Given the description of an element on the screen output the (x, y) to click on. 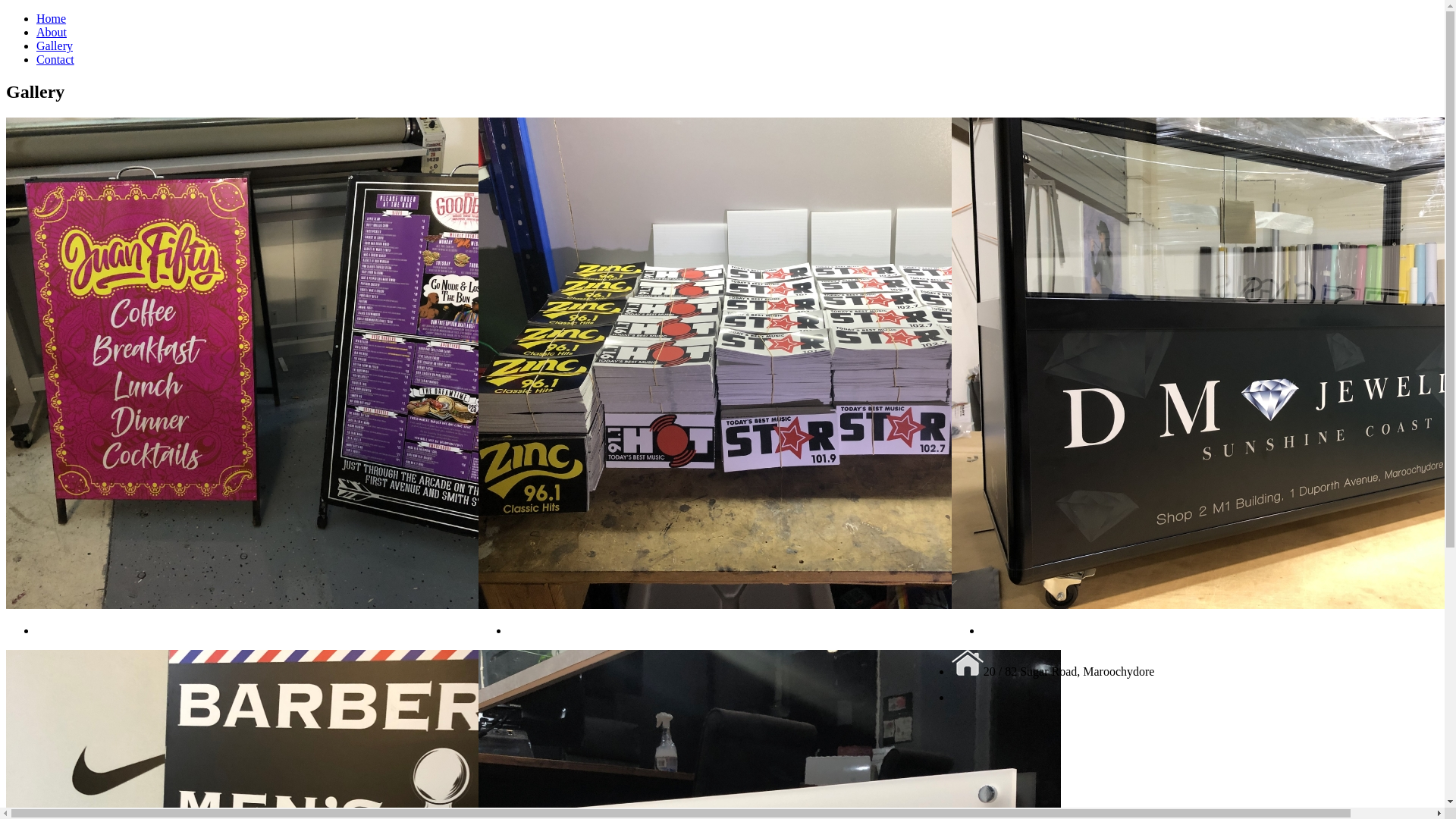
Contact Element type: text (55, 59)
Home Element type: text (50, 18)
About Element type: text (51, 31)
Gallery Element type: text (54, 45)
